Given the description of an element on the screen output the (x, y) to click on. 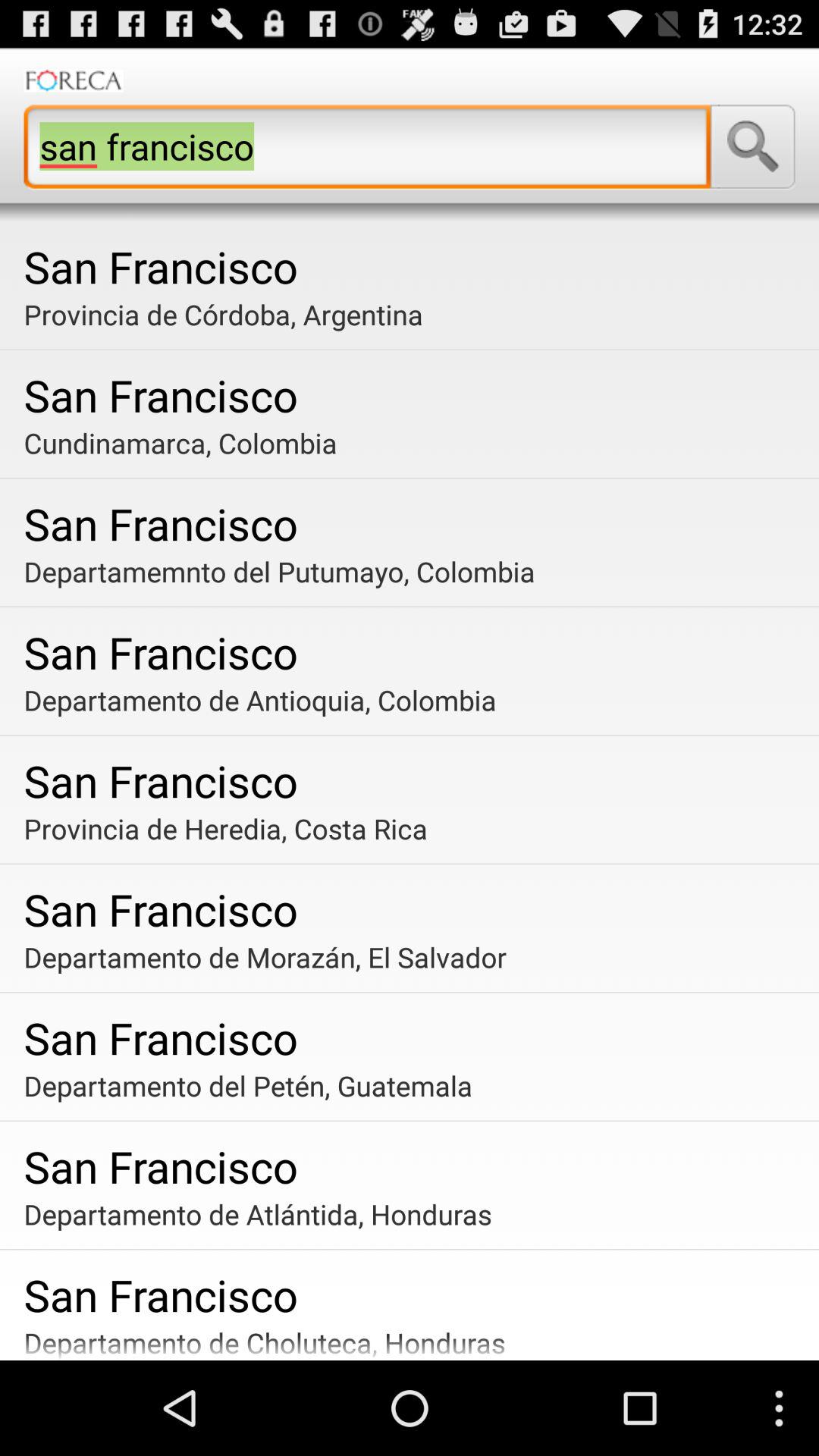
tap the item below the san francisco app (415, 442)
